Given the description of an element on the screen output the (x, y) to click on. 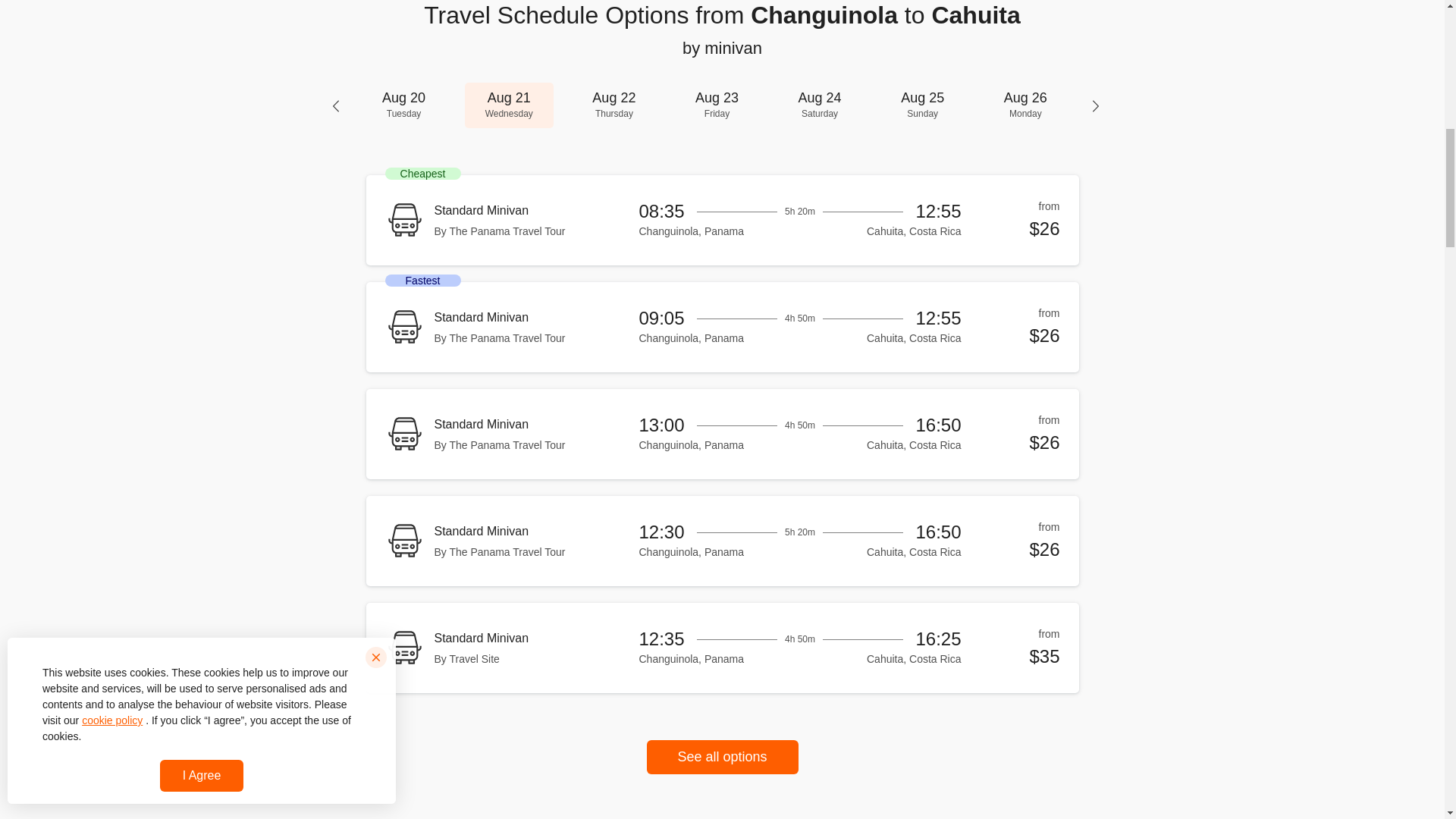
See all options (403, 104)
